Given the description of an element on the screen output the (x, y) to click on. 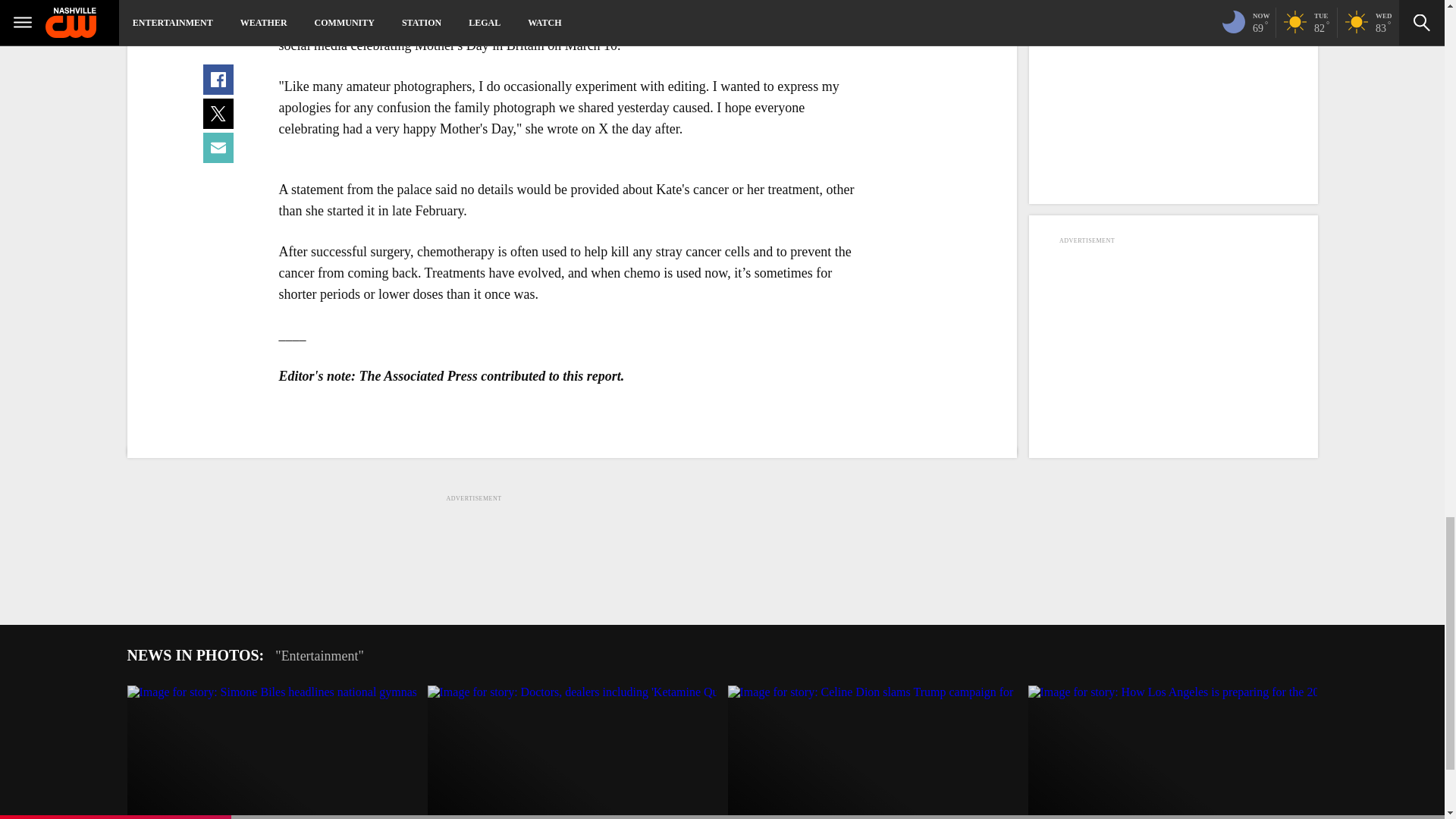
How Los Angeles is preparing for the 2028 Summer Olympics (1172, 752)
Simone Biles headlines national gymnastics tour (272, 752)
